Given the description of an element on the screen output the (x, y) to click on. 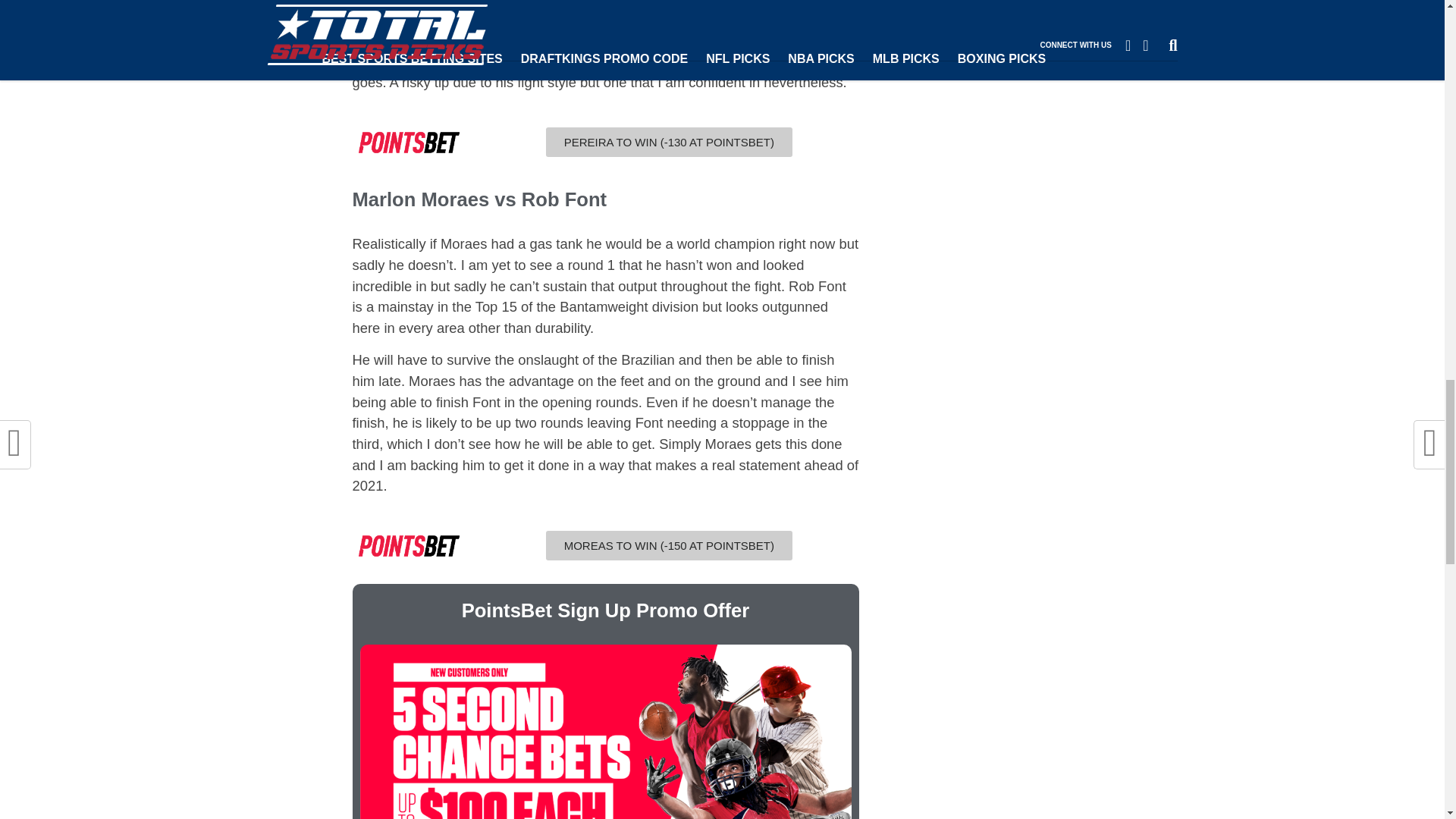
PointsBet Sign Up Promo Offer (605, 609)
